Given the description of an element on the screen output the (x, y) to click on. 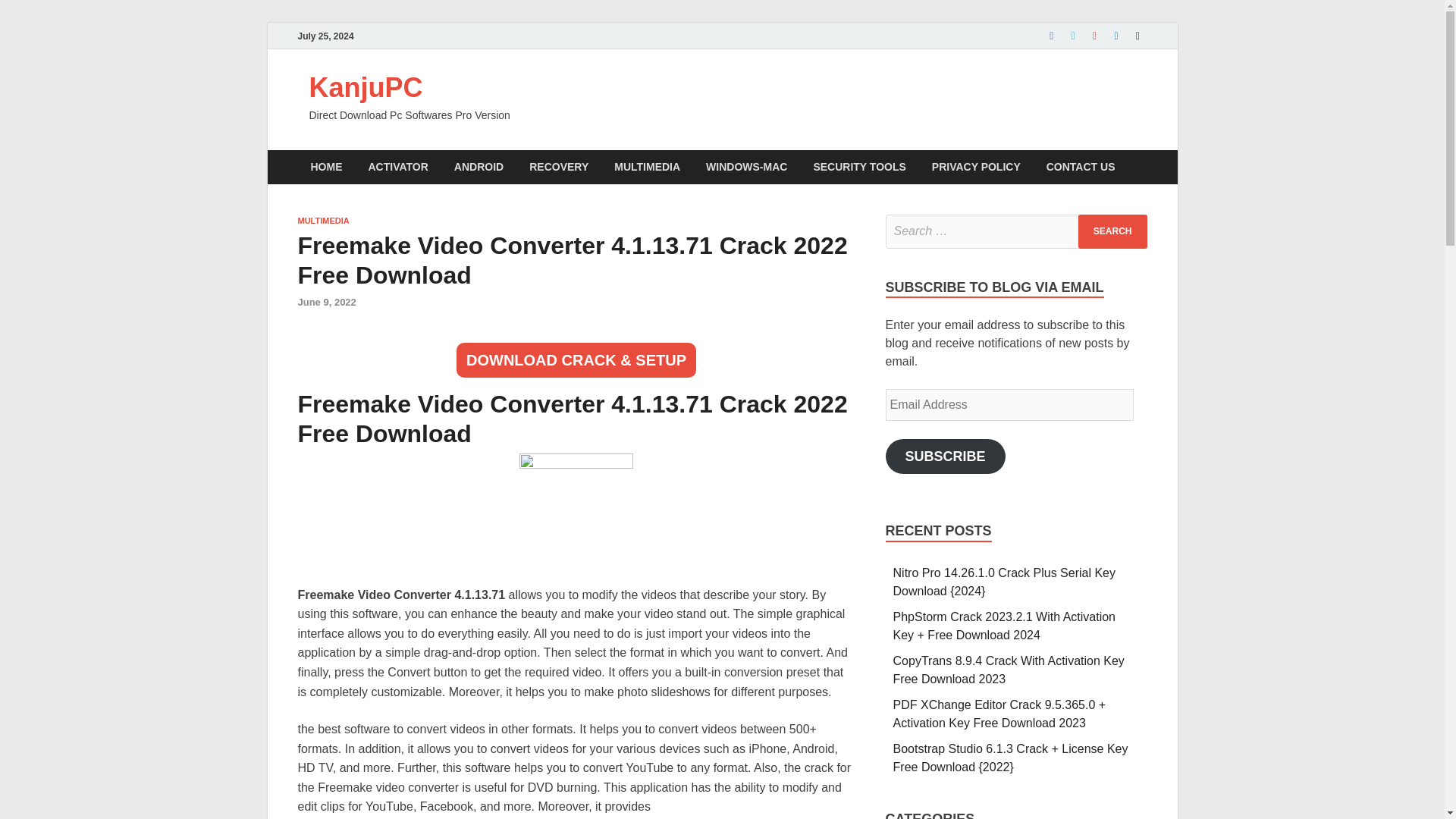
MULTIMEDIA (647, 166)
PRIVACY POLICY (975, 166)
Search (1112, 231)
June 9, 2022 (326, 301)
HOME (326, 166)
MULTIMEDIA (323, 220)
RECOVERY (558, 166)
ANDROID (478, 166)
WINDOWS-MAC (746, 166)
Search (1112, 231)
CONTACT US (1080, 166)
KanjuPC (365, 87)
SECURITY TOOLS (858, 166)
ACTIVATOR (398, 166)
